Given the description of an element on the screen output the (x, y) to click on. 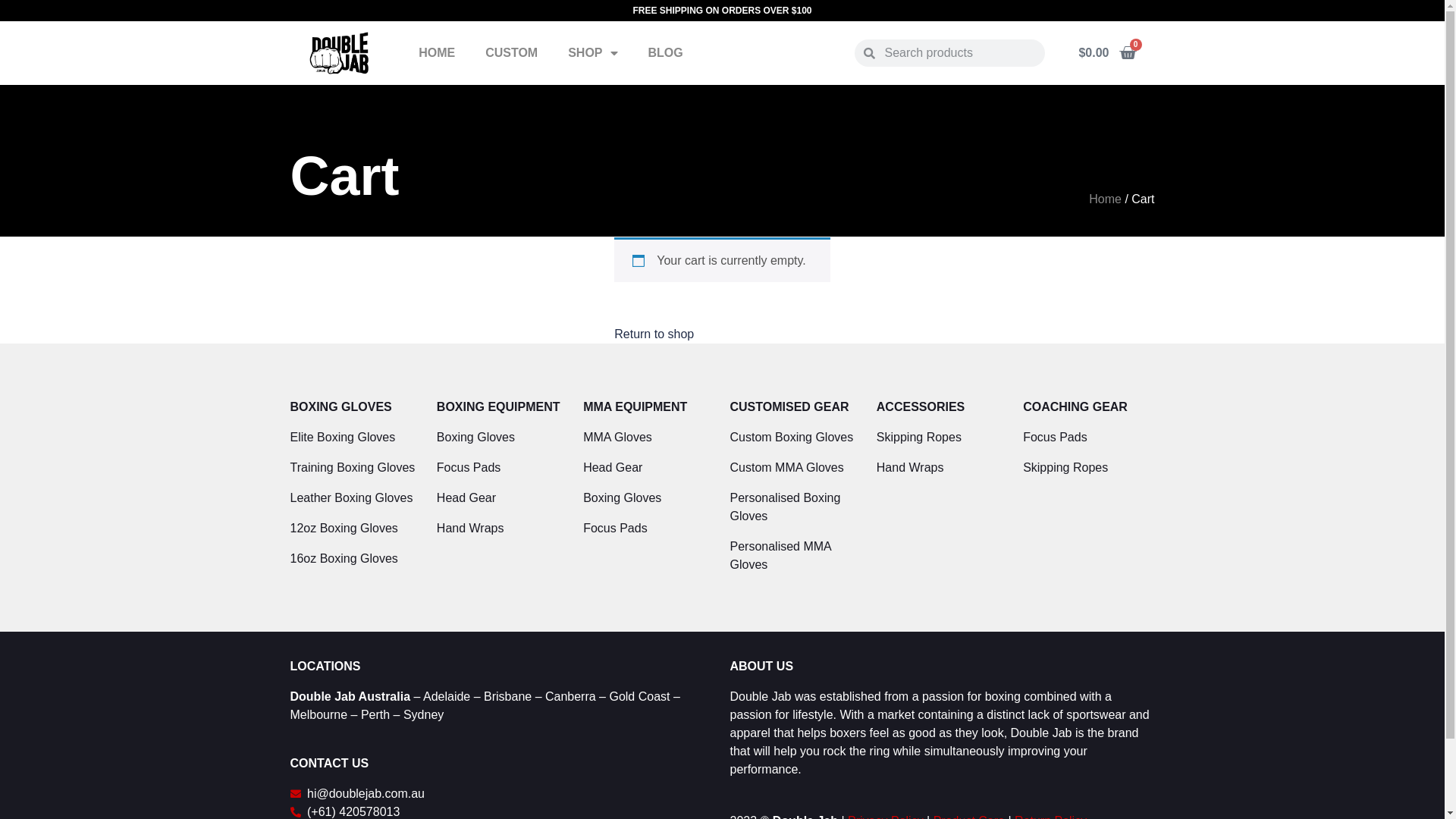
Skipping Ropes Element type: text (941, 437)
Hand Wraps Element type: text (941, 467)
Elite Boxing Gloves Element type: text (354, 437)
SHOP Element type: text (592, 52)
Leather Boxing Gloves Element type: text (354, 498)
Focus Pads Element type: text (1088, 437)
16oz Boxing Gloves Element type: text (354, 558)
Home Element type: text (1104, 198)
12oz Boxing Gloves Element type: text (354, 528)
Training Boxing Gloves Element type: text (354, 467)
Skipping Ropes Element type: text (1088, 467)
MMA Gloves Element type: text (648, 437)
Personalised Boxing Gloves Element type: text (794, 507)
hi@doublejab.com.au Element type: text (501, 793)
Personalised MMA Gloves Element type: text (794, 555)
$0.00
0 Element type: text (1107, 52)
CUSTOM Element type: text (511, 52)
Return to shop Element type: text (653, 334)
Boxing Gloves Element type: text (648, 498)
Custom Boxing Gloves Element type: text (794, 437)
Boxing Gloves Element type: text (501, 437)
Custom MMA Gloves Element type: text (794, 467)
HOME Element type: text (436, 52)
Head Gear Element type: text (648, 467)
Head Gear Element type: text (501, 498)
Hand Wraps Element type: text (501, 528)
BLOG Element type: text (665, 52)
Focus Pads Element type: text (501, 467)
Focus Pads Element type: text (648, 528)
